Given the description of an element on the screen output the (x, y) to click on. 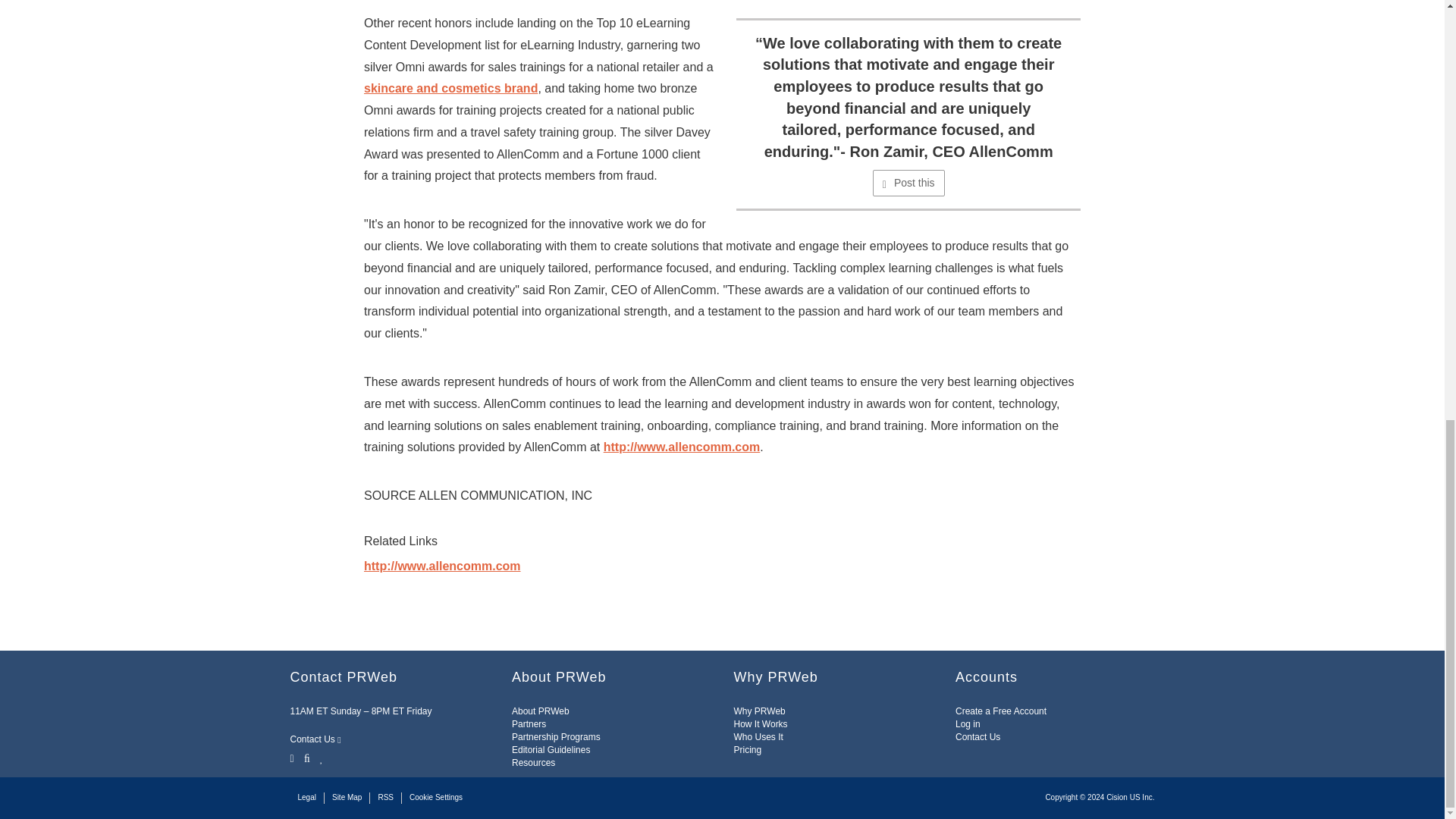
Partners (529, 724)
Editorial Guidelines (550, 749)
Partnership Programs (555, 737)
About PRWeb (540, 710)
Facebook (306, 757)
Why PRWeb (759, 710)
Resources (533, 762)
